Given the description of an element on the screen output the (x, y) to click on. 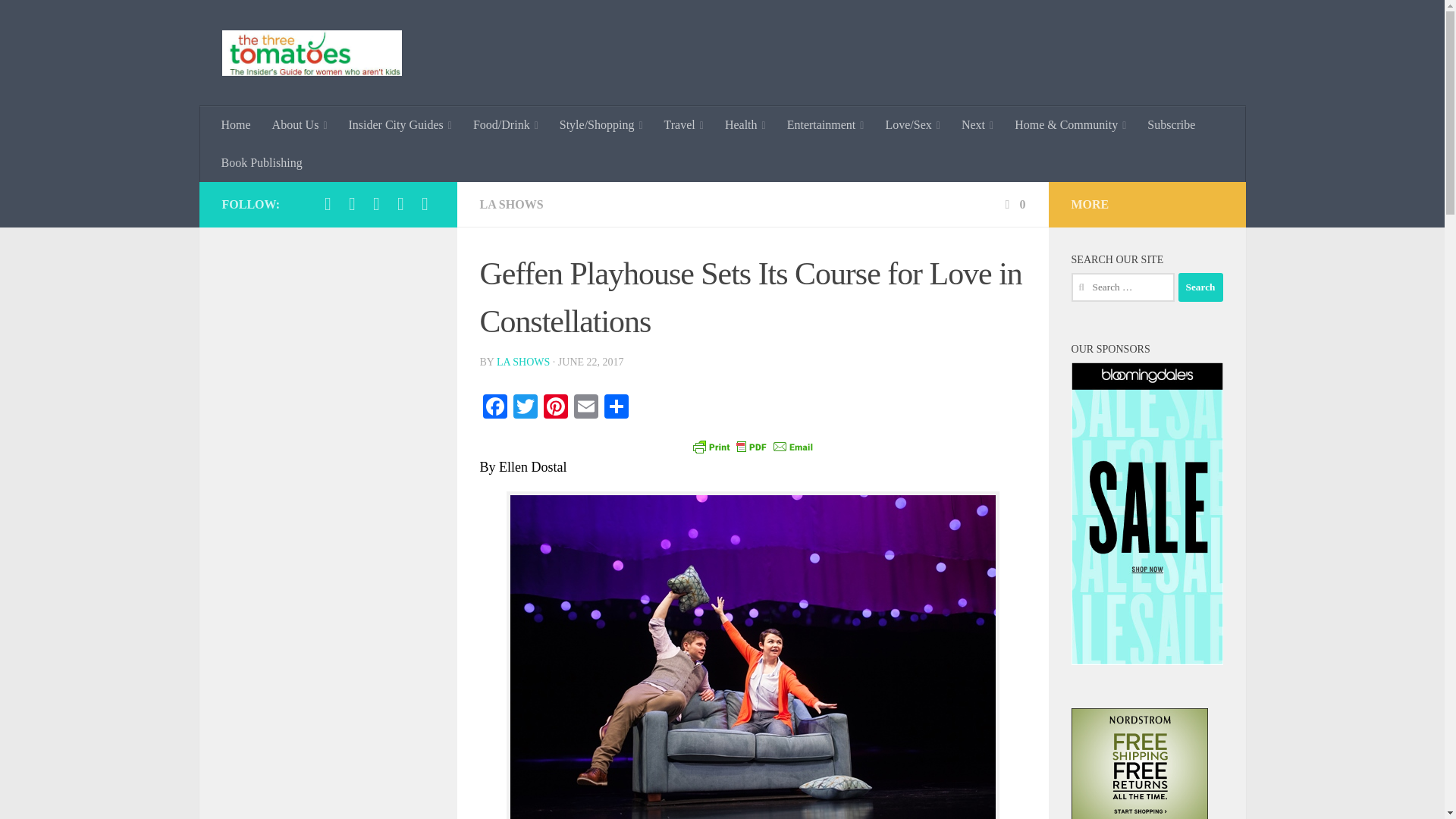
Follow us on Facebook (351, 203)
Email (584, 407)
Skip to content (59, 20)
Search (1200, 287)
Search (1200, 287)
Facebook (494, 407)
Follow us on Instagram (327, 203)
Pinterest (555, 407)
Twitter (524, 407)
